Given the description of an element on the screen output the (x, y) to click on. 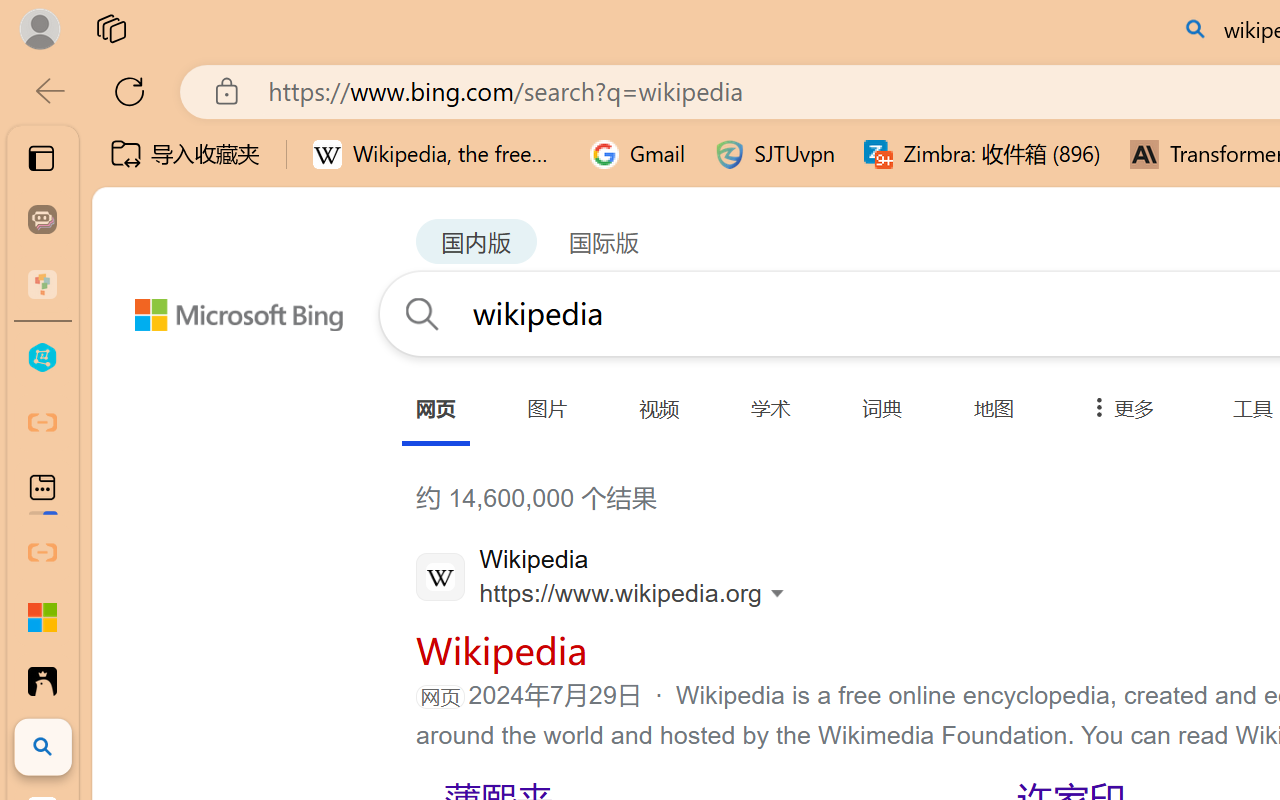
wangyian_dsw - DSW (42, 357)
Gmail (637, 154)
